Given the description of an element on the screen output the (x, y) to click on. 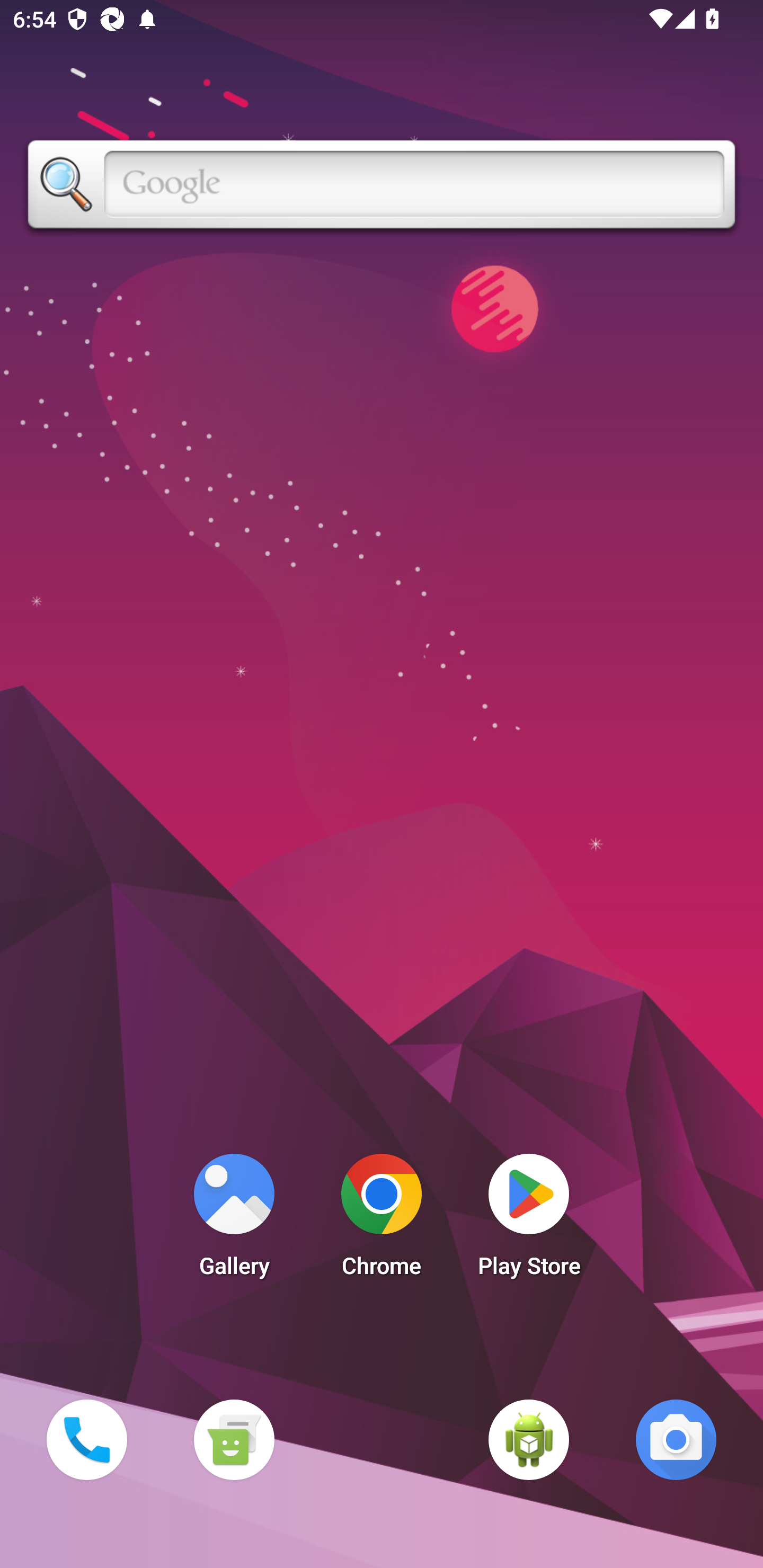
Gallery (233, 1220)
Chrome (381, 1220)
Play Store (528, 1220)
Phone (86, 1439)
Messaging (233, 1439)
WebView Browser Tester (528, 1439)
Camera (676, 1439)
